Given the description of an element on the screen output the (x, y) to click on. 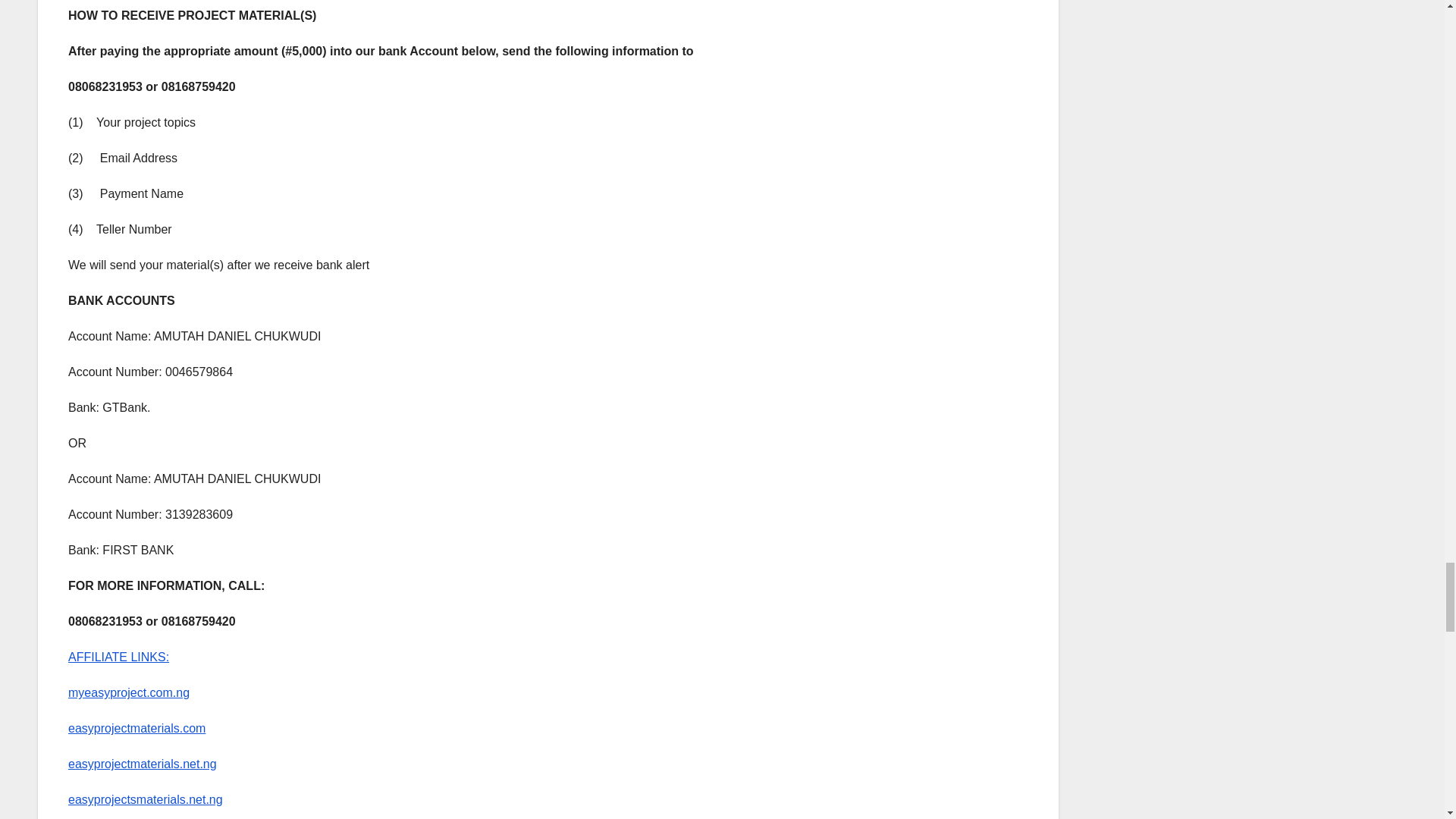
AFFILIATE LINKS: (118, 656)
easyprojectmaterials.net.ng (142, 763)
myeasyproject.com.ng (128, 692)
easyprojectmaterials.com (136, 727)
easyprojectsmaterials.net.ng (145, 799)
